Given the description of an element on the screen output the (x, y) to click on. 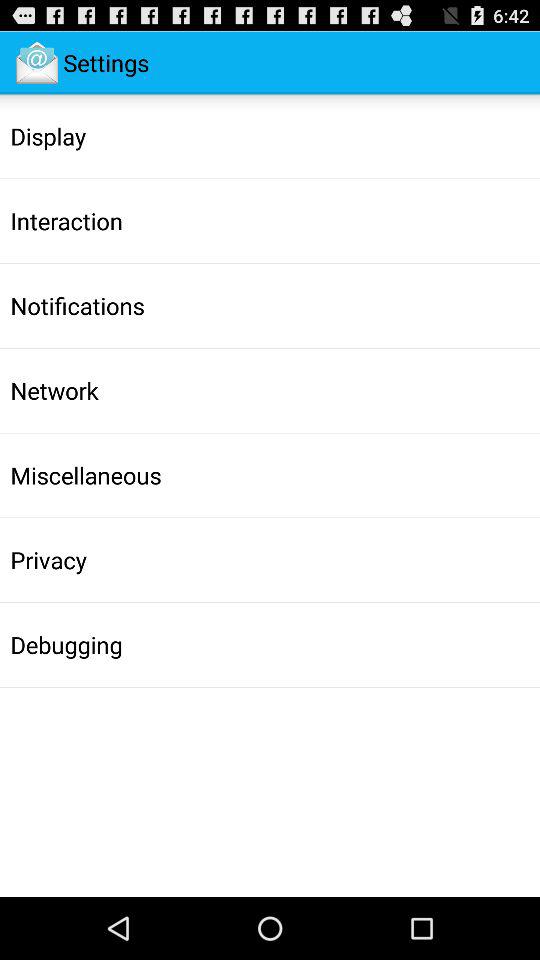
scroll to debugging (66, 644)
